Given the description of an element on the screen output the (x, y) to click on. 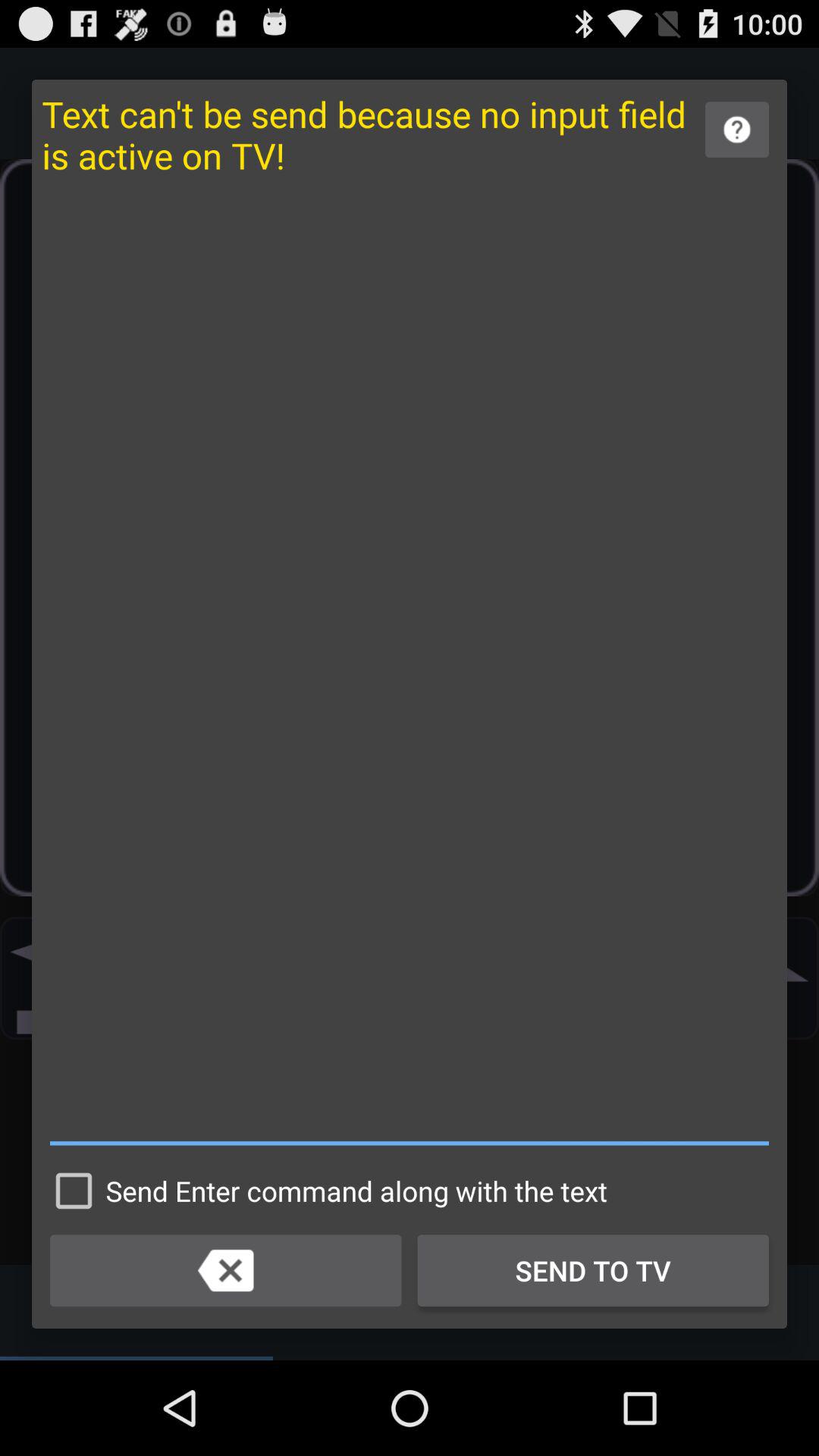
click item at the bottom left corner (225, 1270)
